Given the description of an element on the screen output the (x, y) to click on. 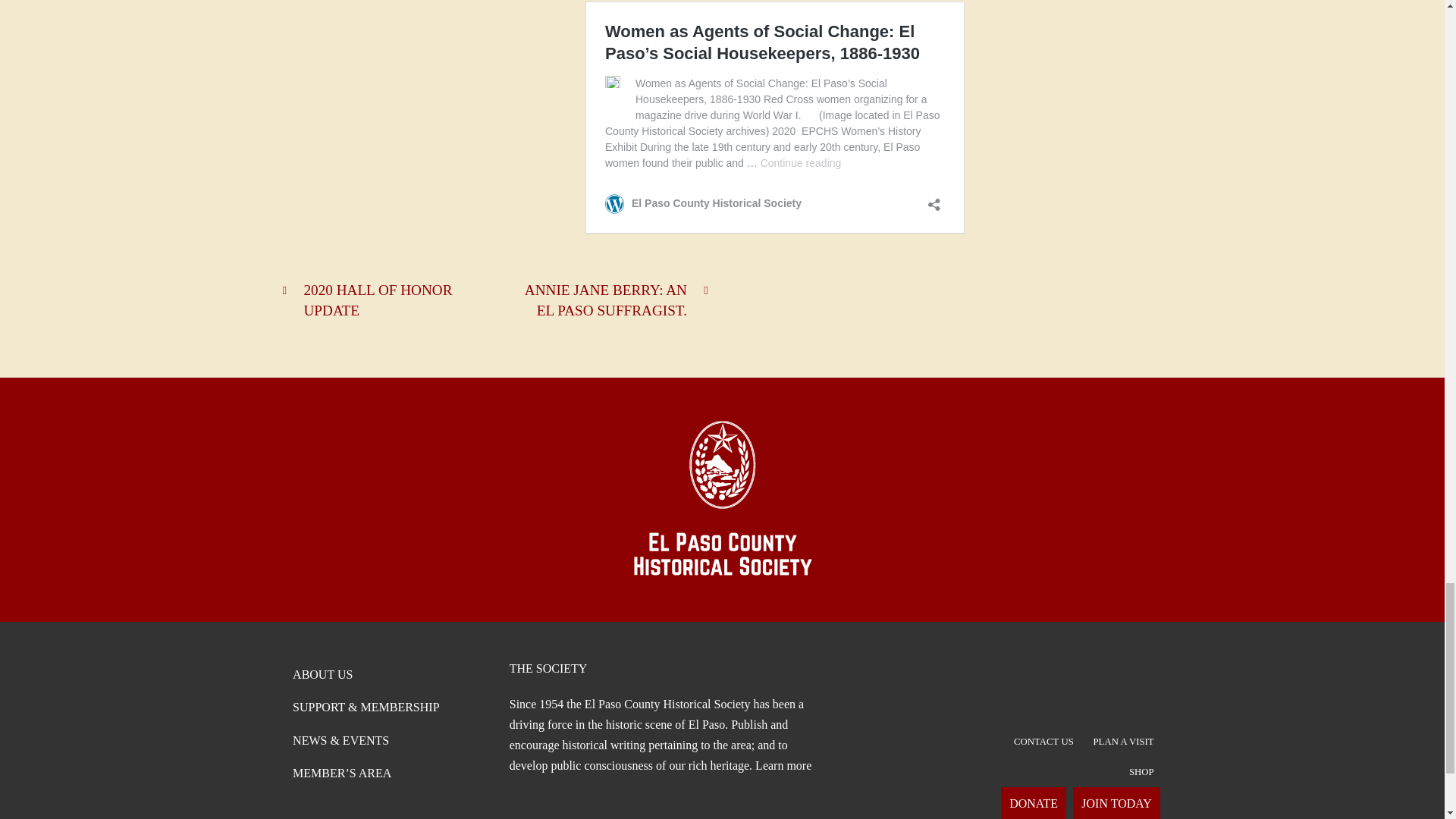
ABOUT US (322, 674)
ANNIE JANE BERRY: AN EL PASO SUFFRAGIST. (607, 300)
2020 HALL OF HONOR UPDATE (381, 300)
